Given the description of an element on the screen output the (x, y) to click on. 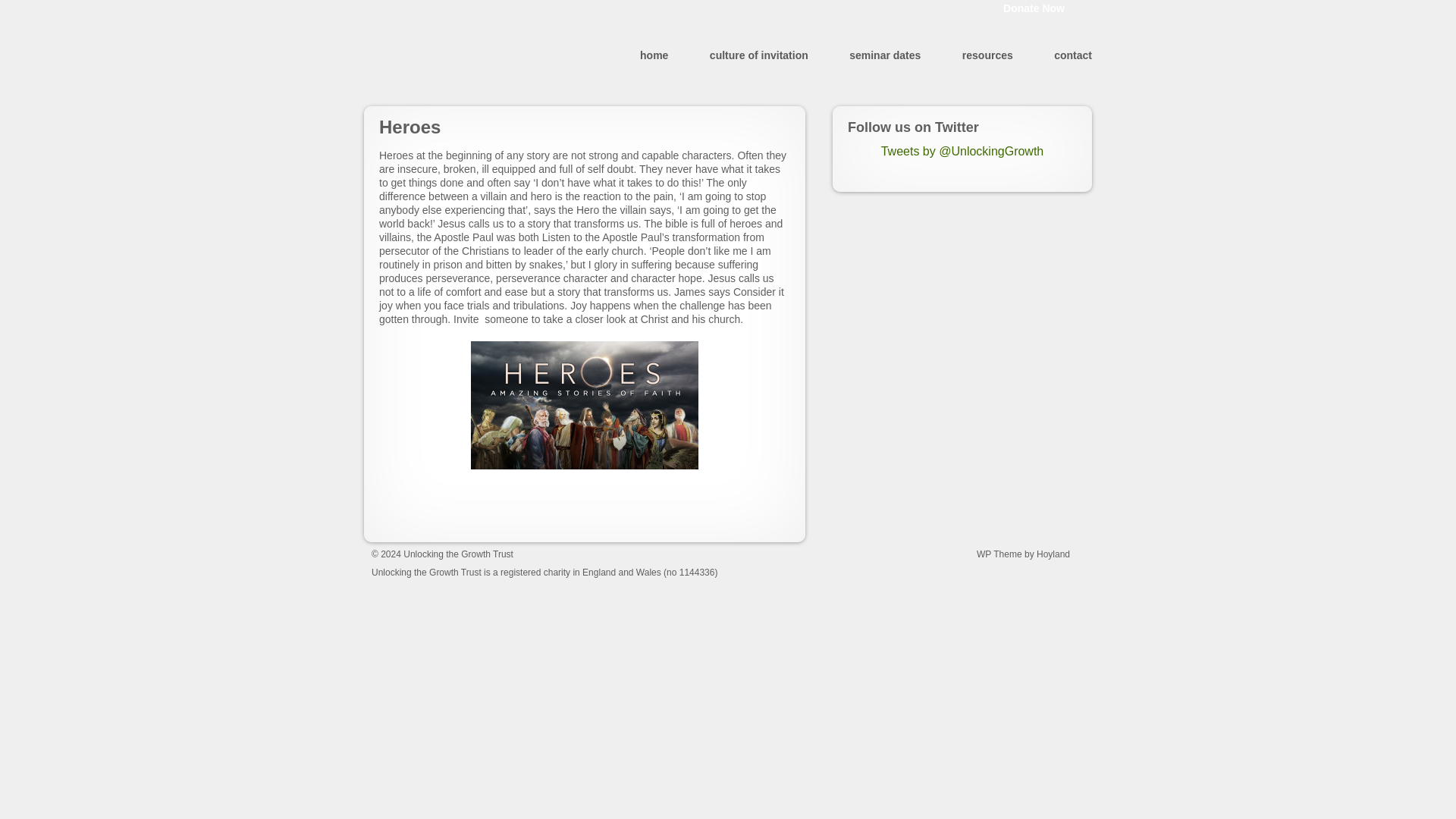
home (654, 55)
Unlocking the Growth Trust (458, 553)
Wordpress theme by Hoyland Web Design (1033, 553)
Donate Now (1033, 9)
culture of invitation (759, 55)
Unlocking the Growth (457, 55)
contact (1073, 55)
Unlocking the Growth Trust (457, 55)
Unlocking the Growth Trust (458, 553)
WP Theme by Hoyland (1033, 553)
